Given the description of an element on the screen output the (x, y) to click on. 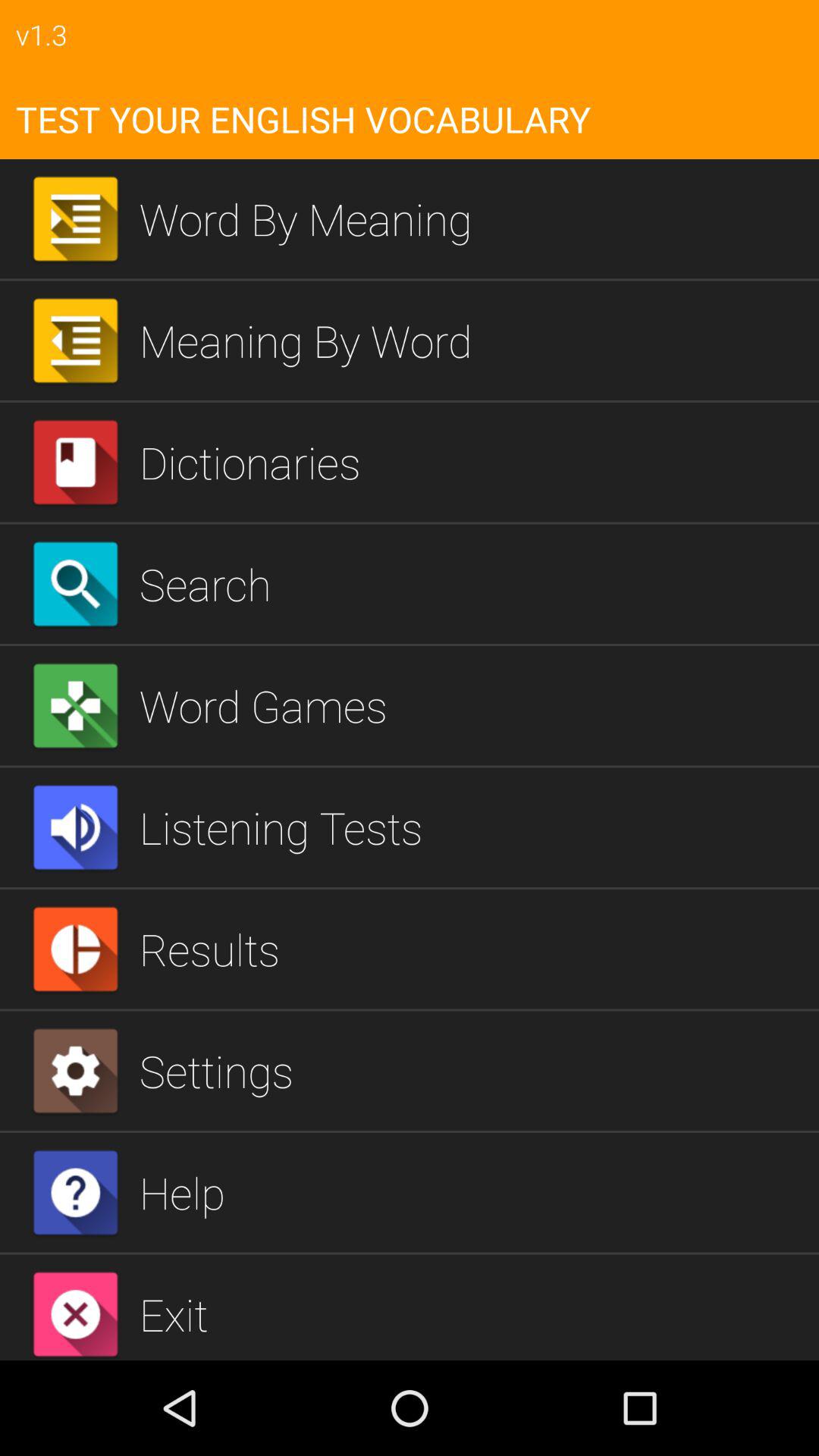
click the dictionaries (473, 462)
